Given the description of an element on the screen output the (x, y) to click on. 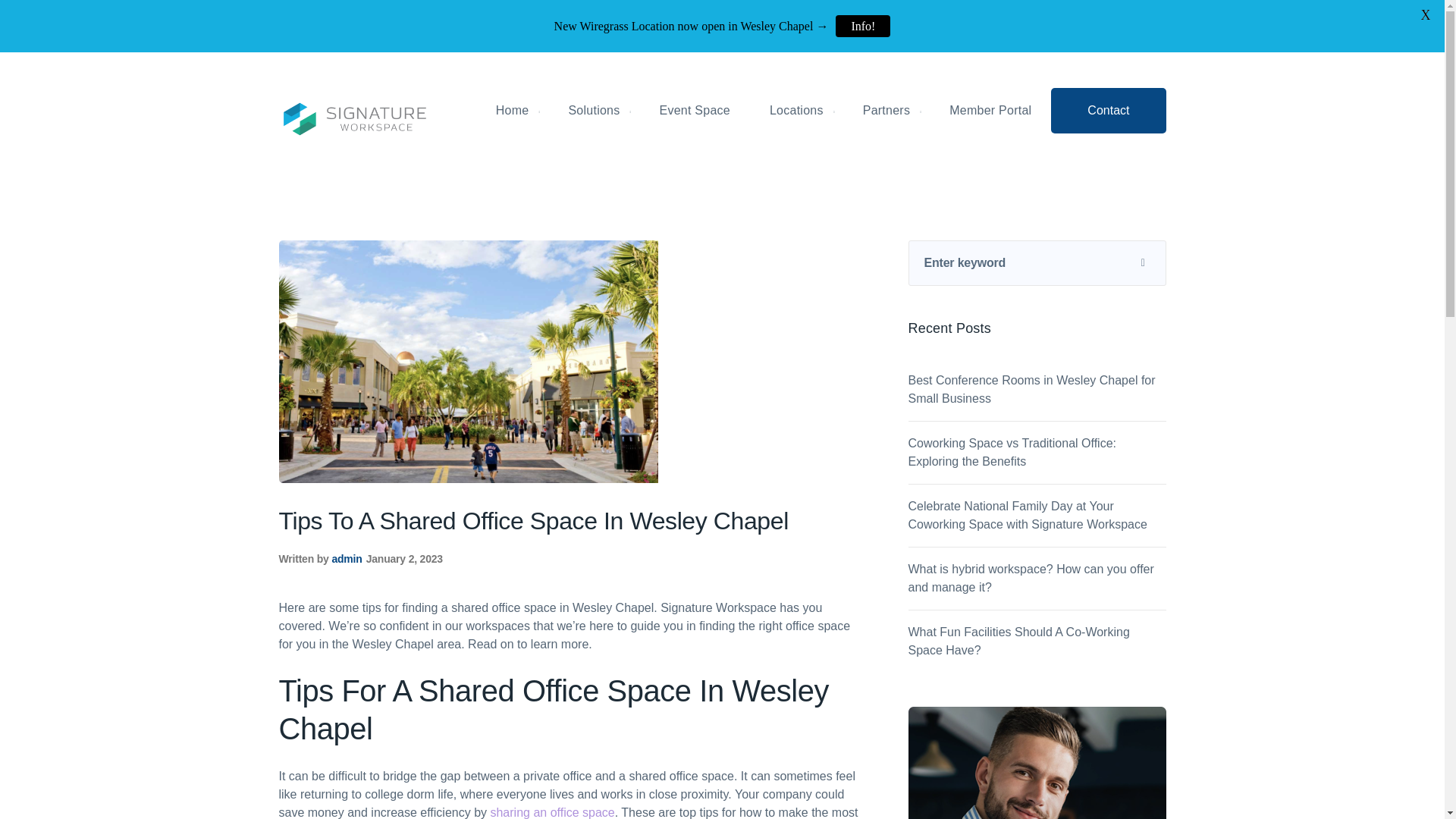
admin (346, 558)
Search (1143, 262)
Event Space (693, 110)
Signature Workspace (354, 118)
Member Portal (990, 110)
Best Conference Rooms in Wesley Chapel for Small Business (1037, 389)
Contact (1108, 110)
View all posts by admin (346, 558)
Locations (796, 110)
SEARCH (1143, 262)
sharing an office space (551, 812)
Search for: (1037, 262)
